Given the description of an element on the screen output the (x, y) to click on. 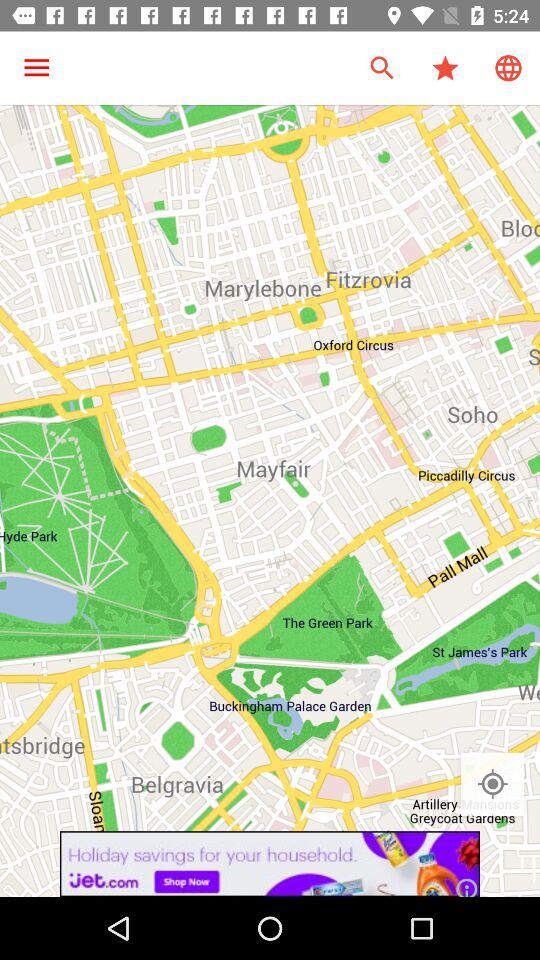
jet.com advertisement link (270, 864)
